Given the description of an element on the screen output the (x, y) to click on. 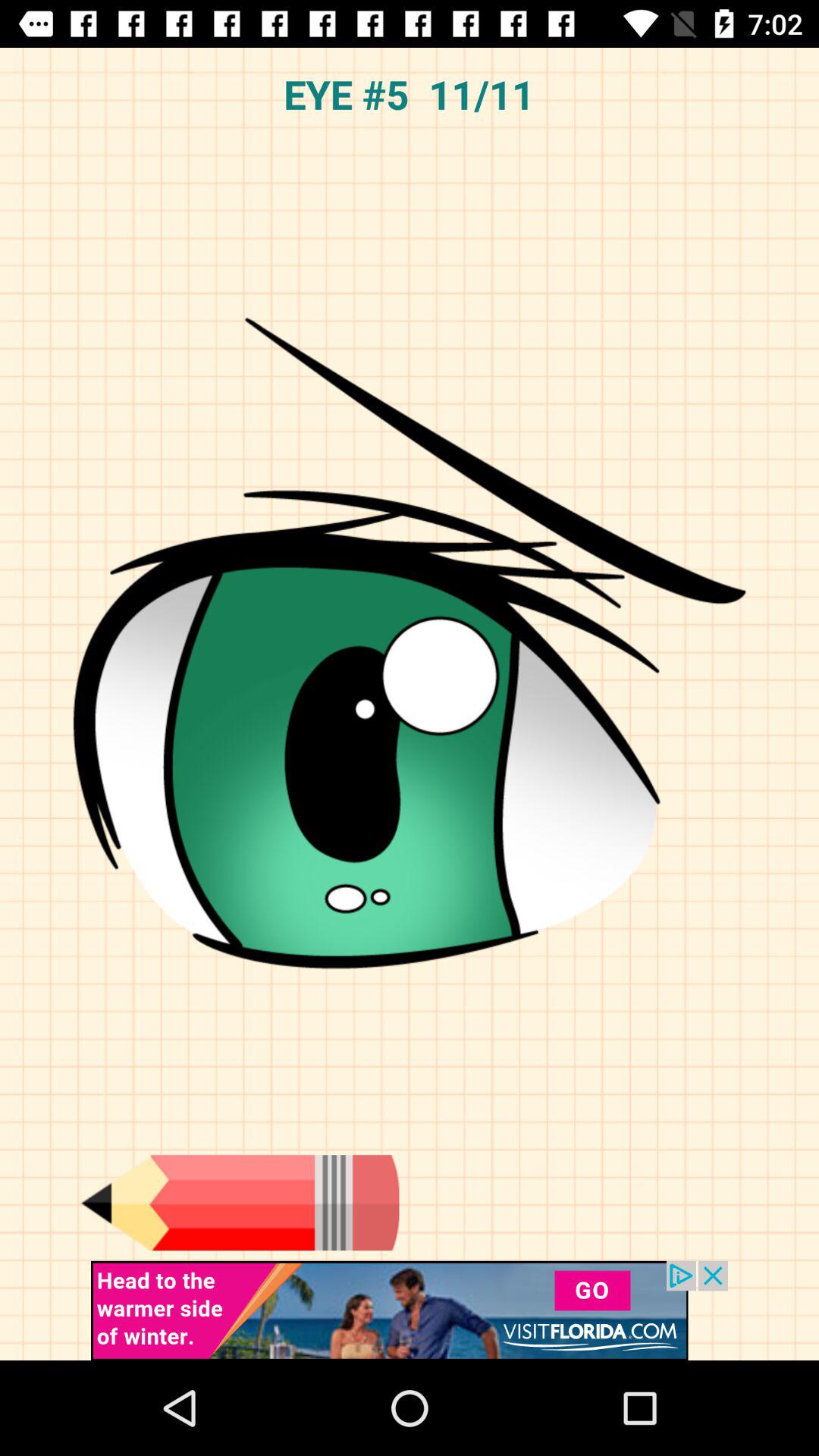
click on the advertisement (409, 1310)
